Given the description of an element on the screen output the (x, y) to click on. 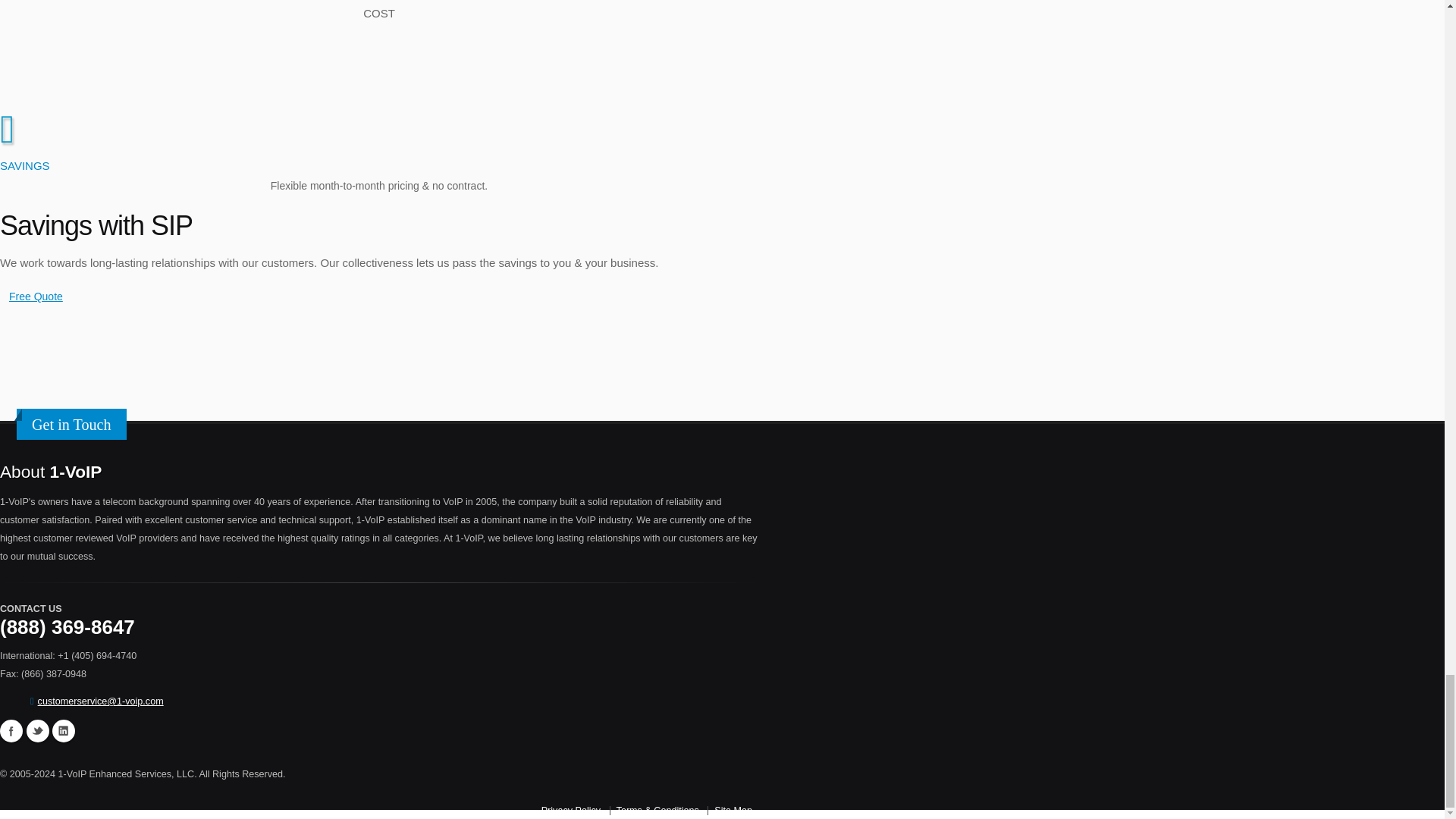
Free Quote (35, 296)
Site Map (733, 810)
Privacy Policy (570, 810)
Twitter (37, 730)
Facebook (11, 730)
Linkedin (63, 730)
